Given the description of an element on the screen output the (x, y) to click on. 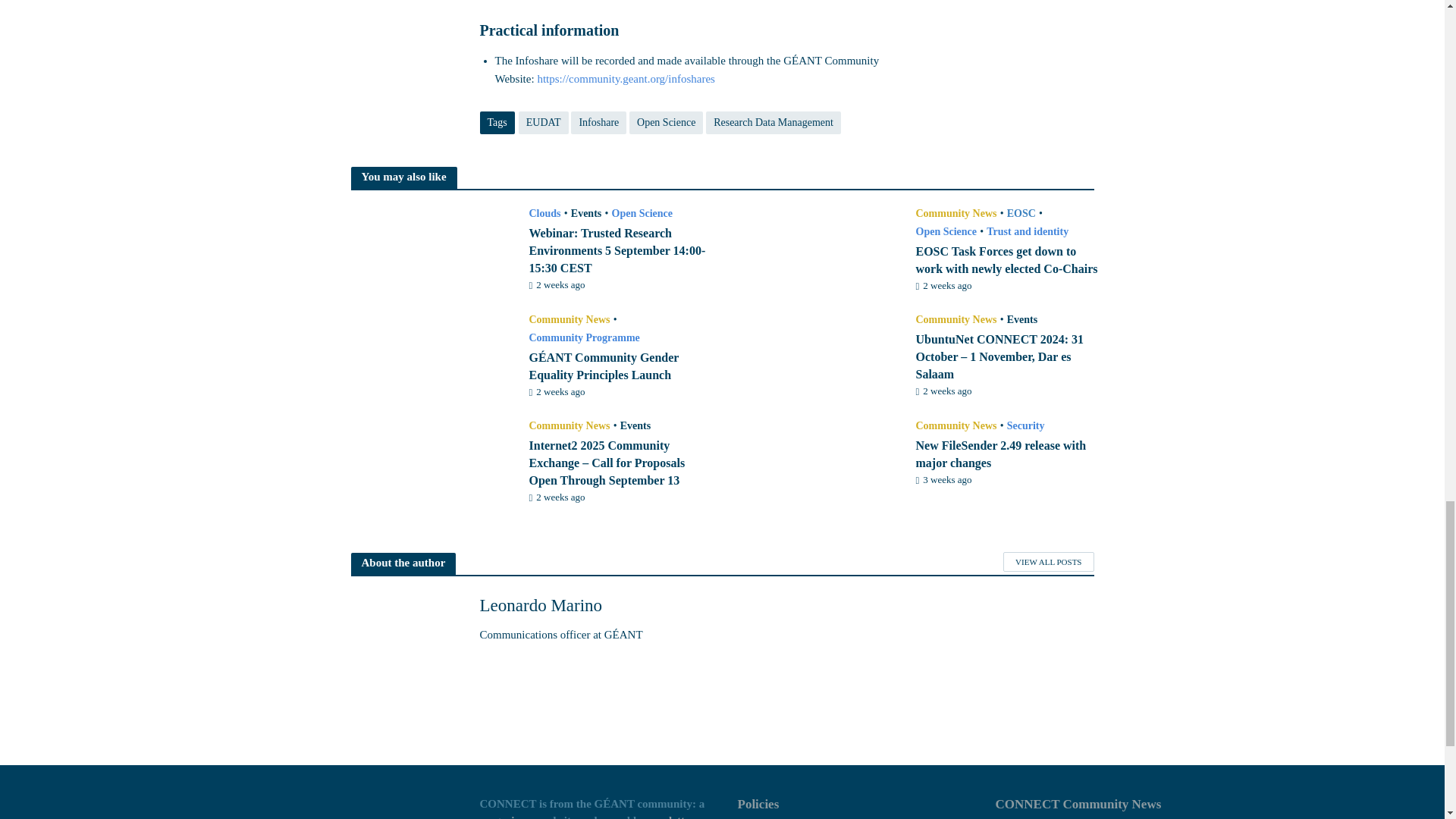
New FileSender 2.49 release with major changes (817, 460)
